Given the description of an element on the screen output the (x, y) to click on. 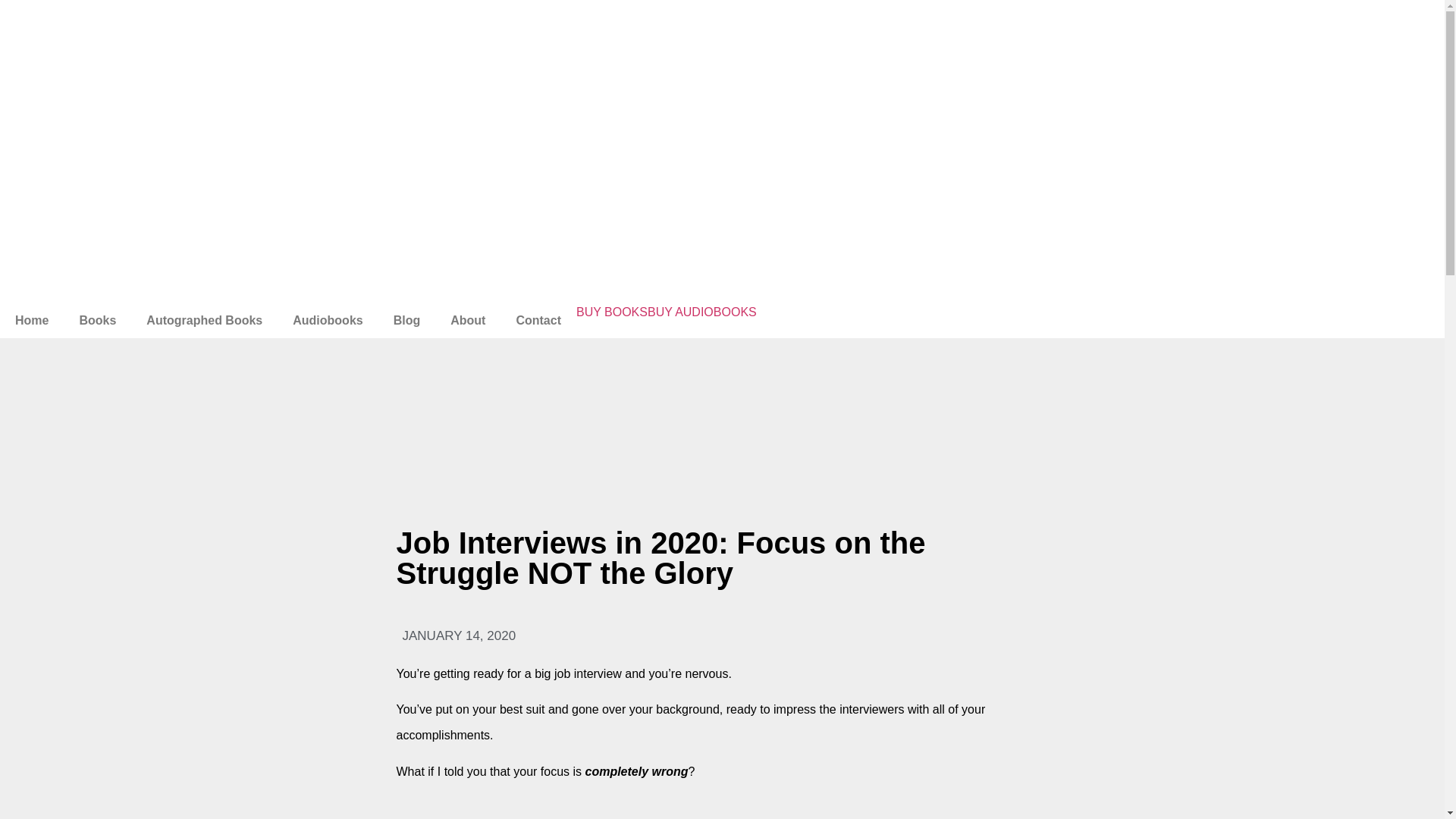
JANUARY 14, 2020 (455, 636)
Autographed Books (204, 320)
About (467, 320)
Blog (406, 320)
Books (97, 320)
Home (32, 320)
Contact (538, 320)
BUY AUDIOBOOKS (702, 311)
Audiobooks (327, 320)
BUY BOOKS (611, 311)
